Given the description of an element on the screen output the (x, y) to click on. 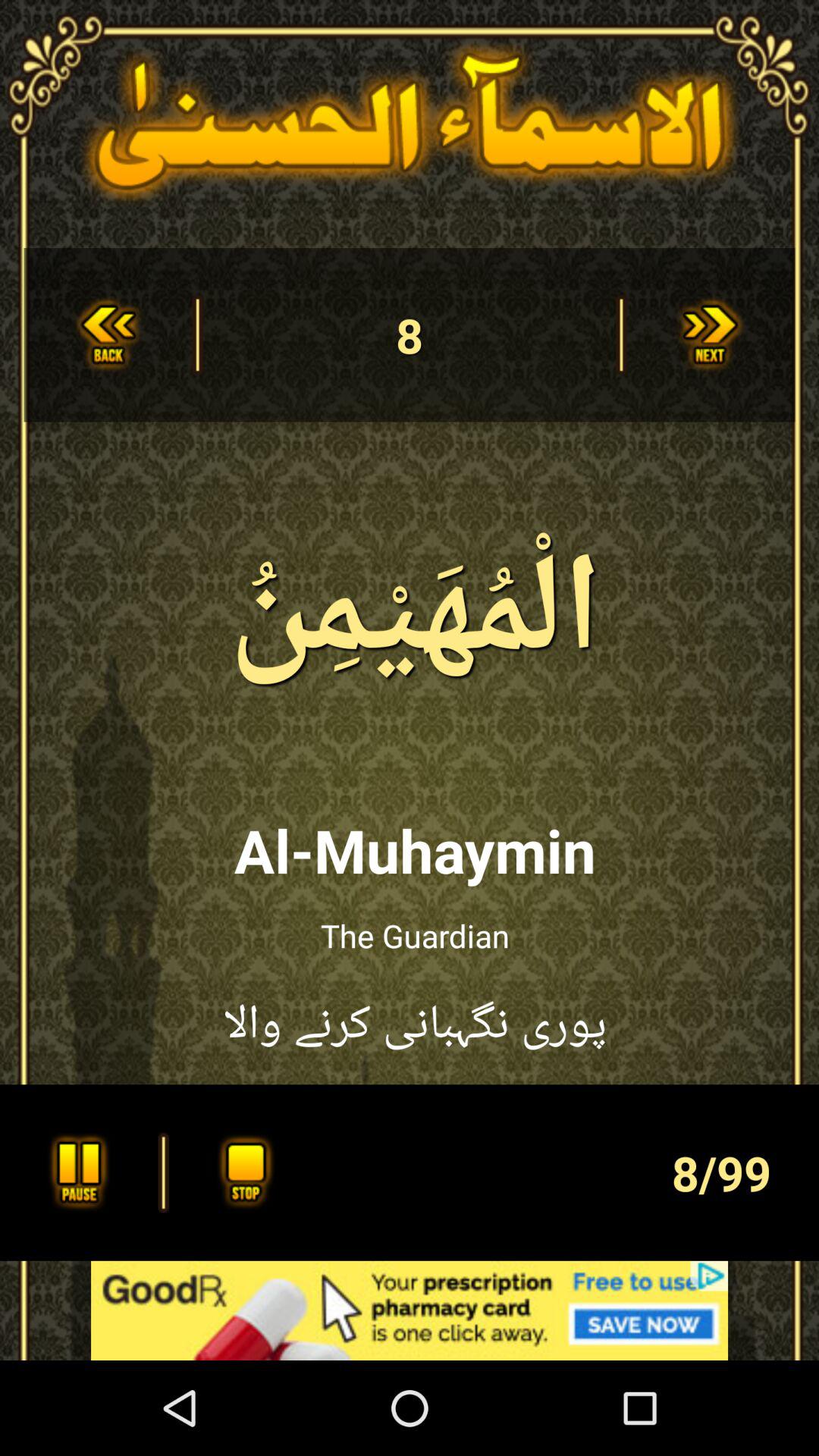
select your add (409, 1310)
